Given the description of an element on the screen output the (x, y) to click on. 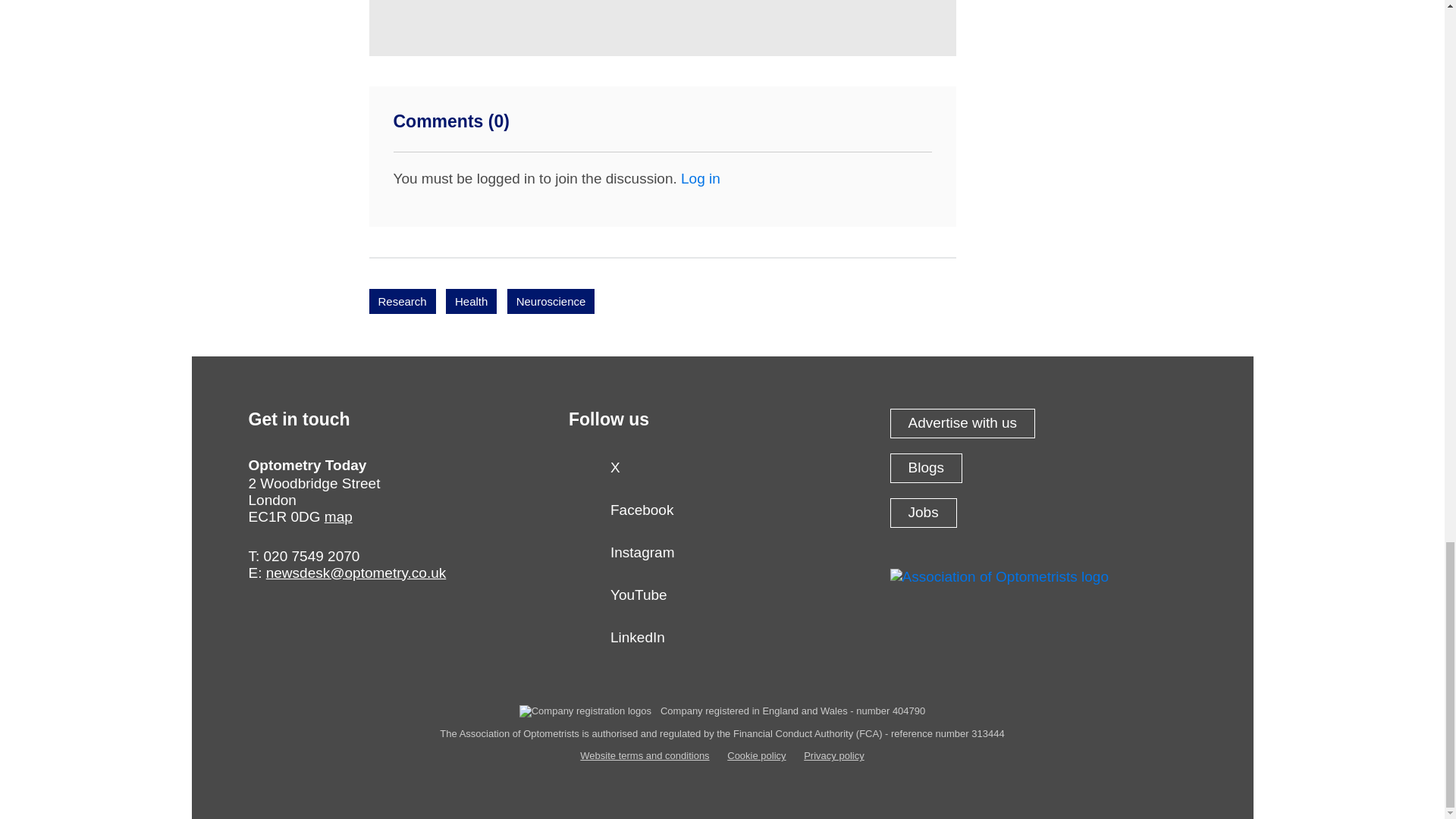
Connect with OT on LinkedIn (722, 642)
Follow Ot on Facebook (722, 514)
Find us on the map (338, 516)
Follow Ot on Twitter (722, 472)
